Given the description of an element on the screen output the (x, y) to click on. 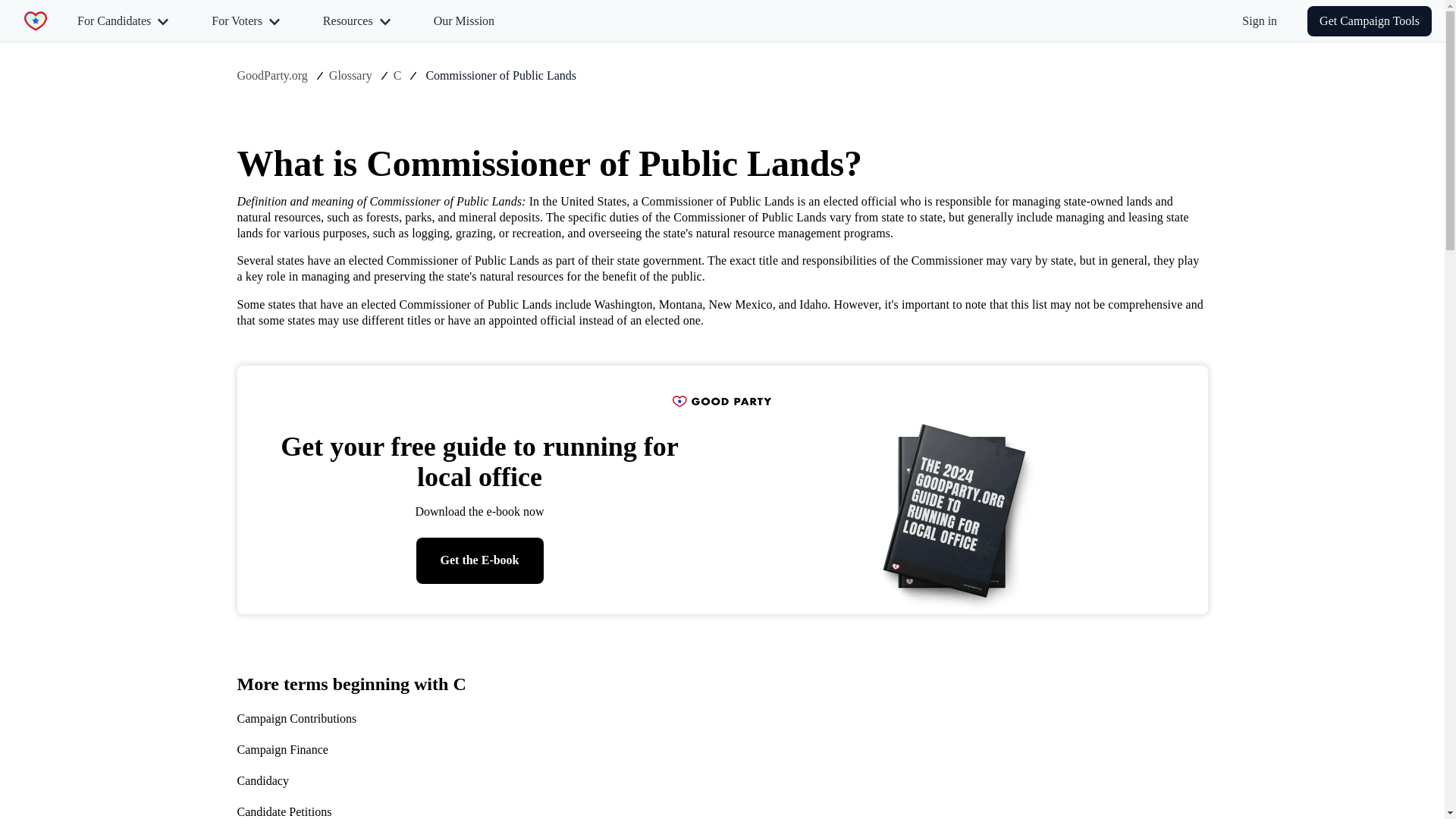
Get the E-book (478, 560)
Glossary (350, 75)
Sign in (1259, 20)
Campaign Finance (350, 750)
GoodParty.org (271, 75)
For Voters (245, 20)
Get Campaign Tools (1369, 20)
Our Mission (464, 20)
Resources (357, 20)
Candidate Petitions (350, 811)
